Given the description of an element on the screen output the (x, y) to click on. 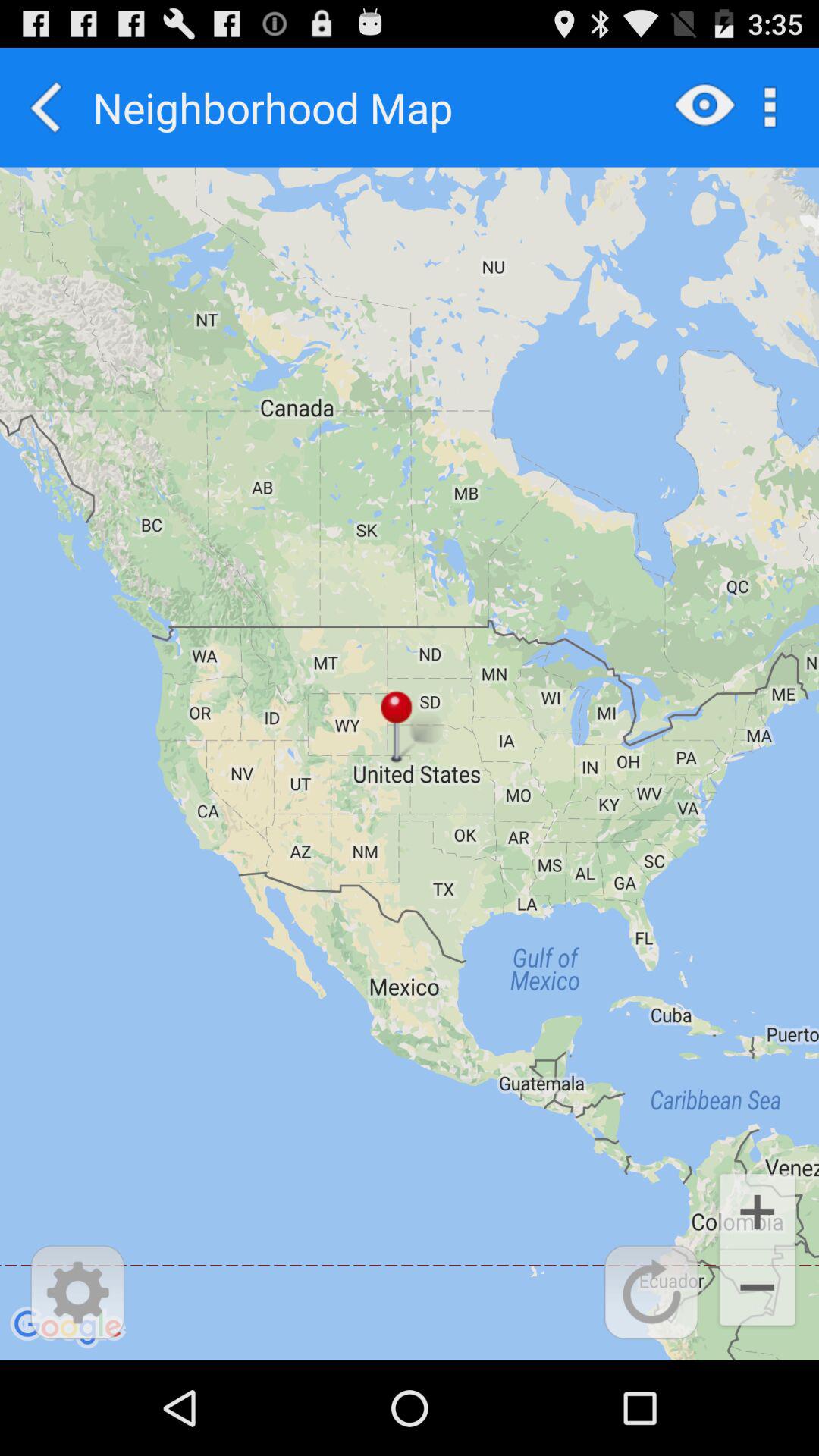
turn on the item at the center (409, 763)
